Given the description of an element on the screen output the (x, y) to click on. 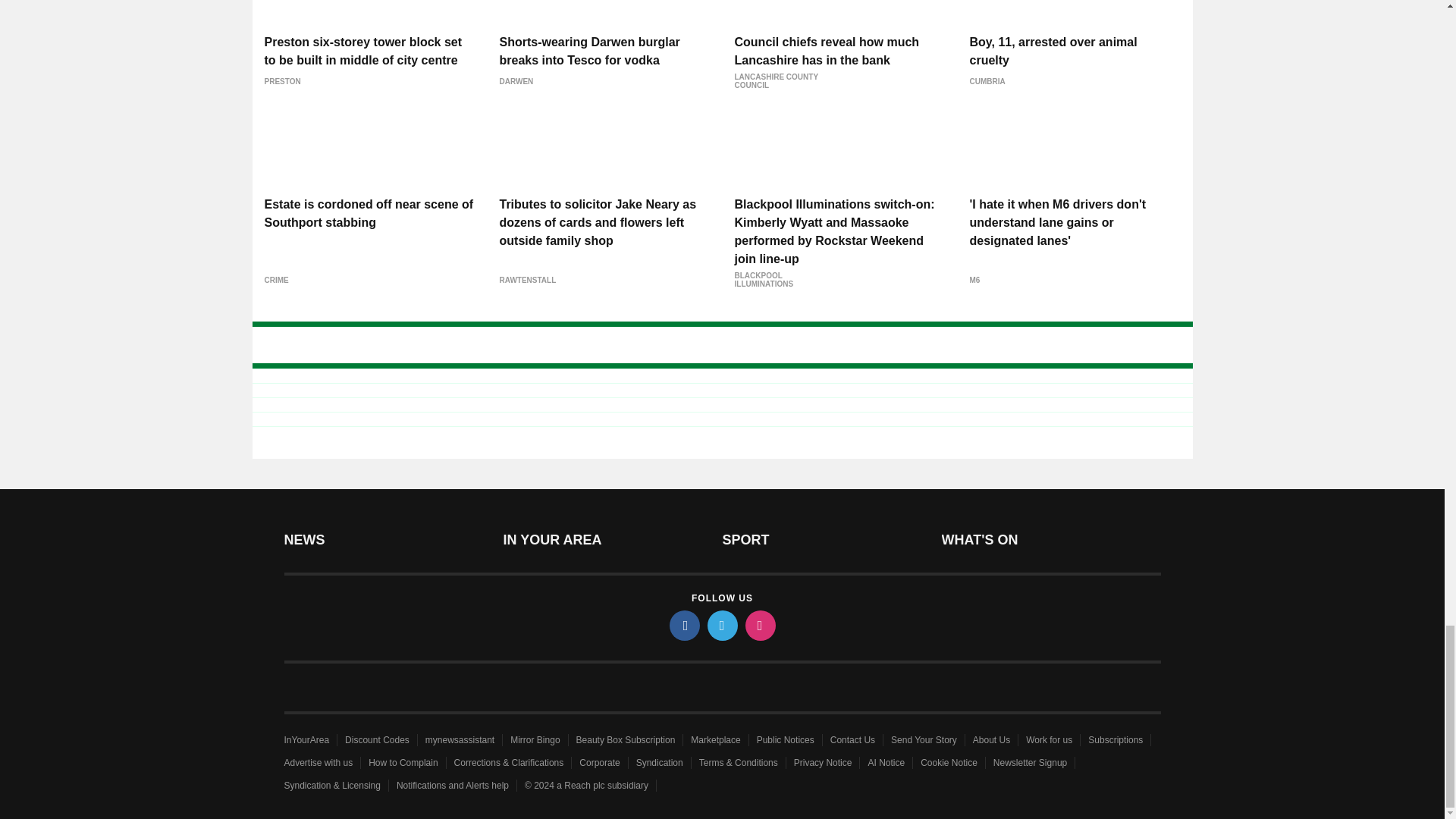
instagram (759, 625)
twitter (721, 625)
facebook (683, 625)
